Given the description of an element on the screen output the (x, y) to click on. 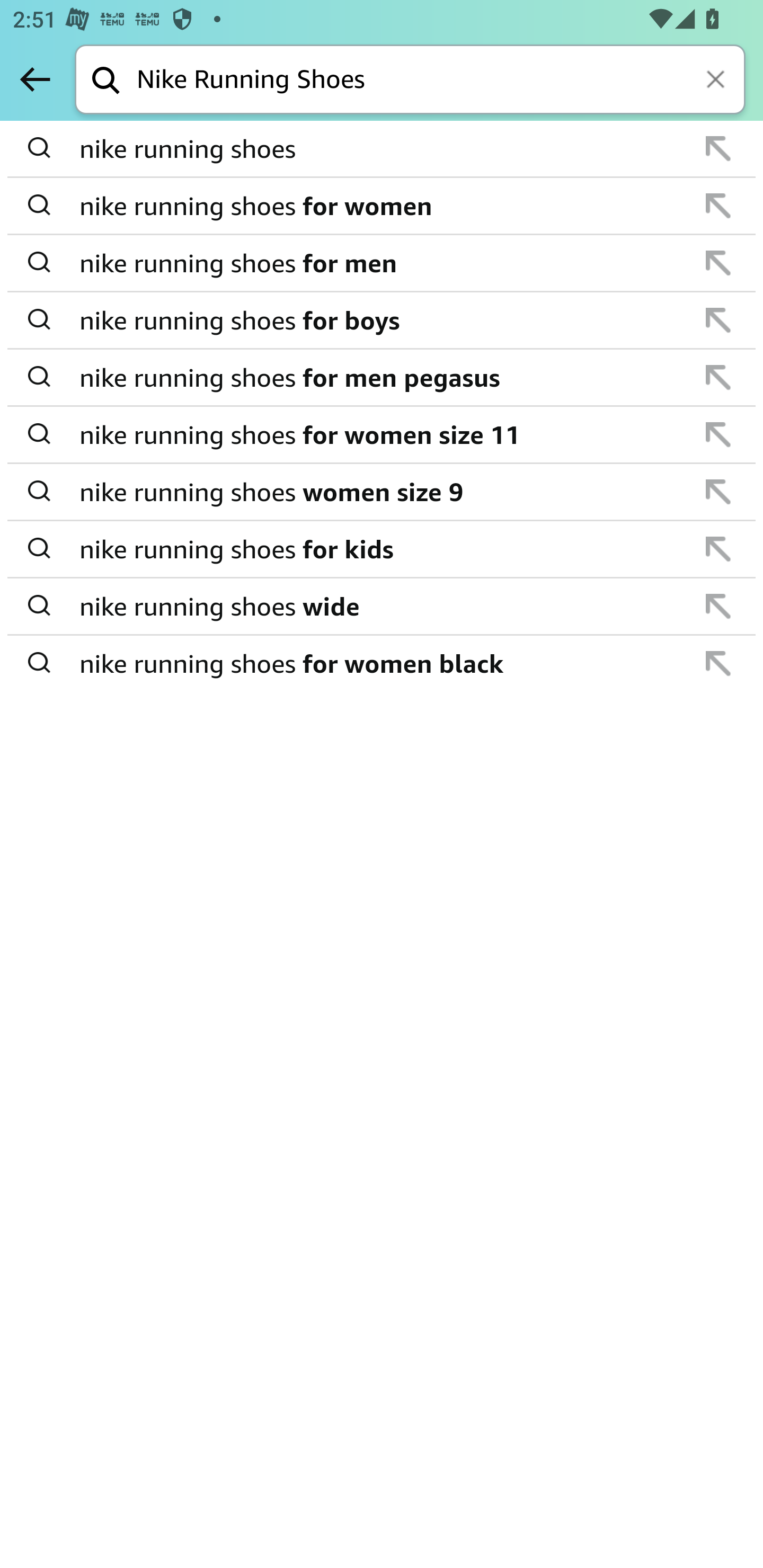
Nike Running Shoes (440, 80)
Clear search keywords (717, 80)
Back (35, 78)
append suggestion nike running shoes (381, 149)
nike running shoes (382, 149)
append suggestion (718, 147)
nike running shoes for women (382, 205)
append suggestion nike running shoes for women (381, 206)
append suggestion (718, 205)
nike running shoes for men (382, 262)
append suggestion nike running shoes for men (381, 263)
append suggestion (718, 262)
nike running shoes for boys (382, 319)
append suggestion nike running shoes for boys (381, 320)
append suggestion (718, 319)
nike running shoes for men pegasus (382, 377)
append suggestion (718, 376)
nike running shoes for women size 11 (382, 434)
append suggestion (718, 434)
nike running shoes women size 9 (382, 491)
append suggestion nike running shoes women size 9 (381, 492)
append suggestion (718, 491)
nike running shoes for kids (382, 548)
append suggestion nike running shoes for kids (381, 549)
append suggestion (718, 548)
nike running shoes wide (382, 606)
append suggestion nike running shoes wide (381, 606)
append suggestion (718, 605)
nike running shoes for women black (382, 662)
append suggestion (718, 663)
